Given the description of an element on the screen output the (x, y) to click on. 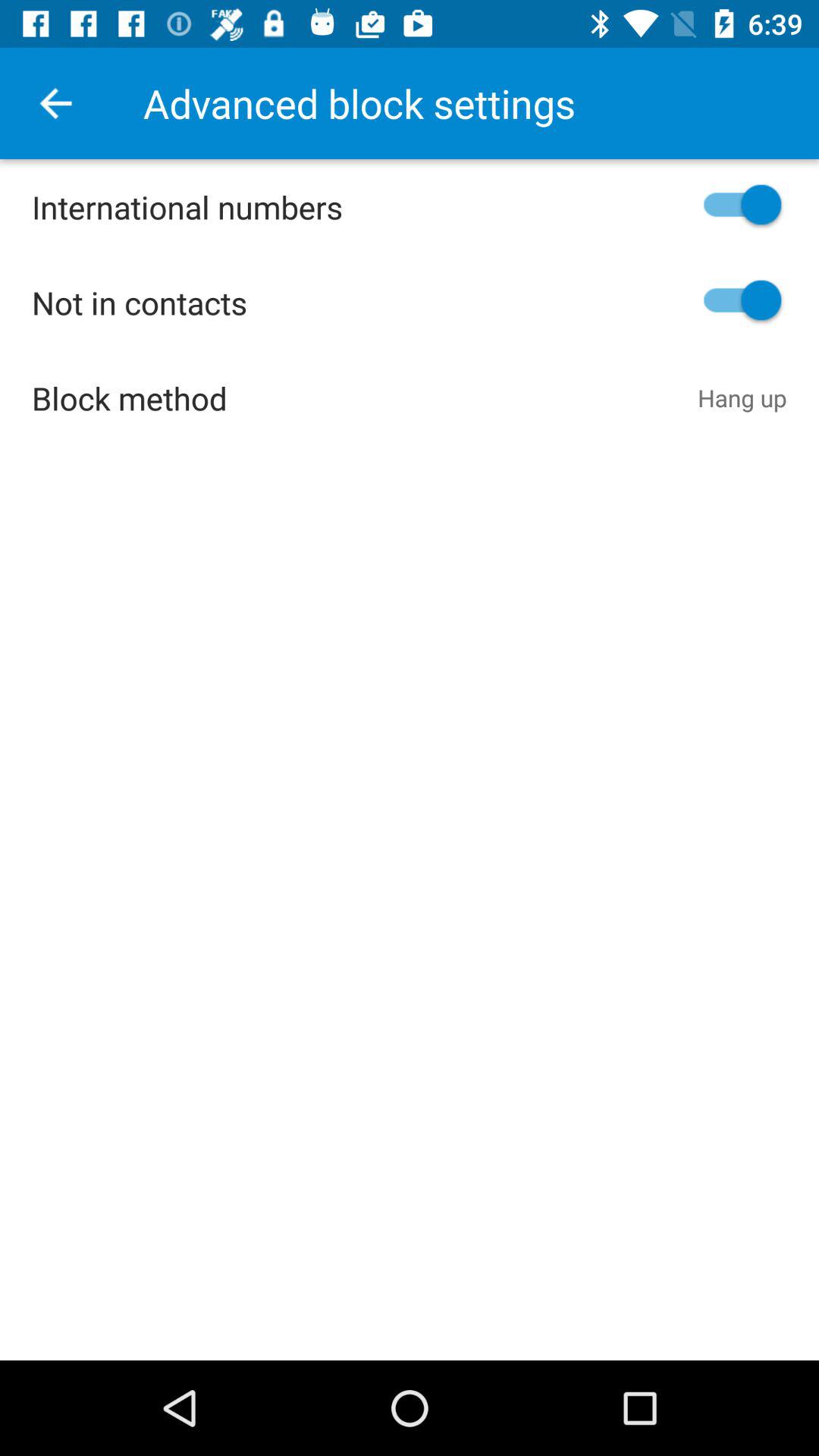
press the item next to the advanced block settings item (55, 103)
